Given the description of an element on the screen output the (x, y) to click on. 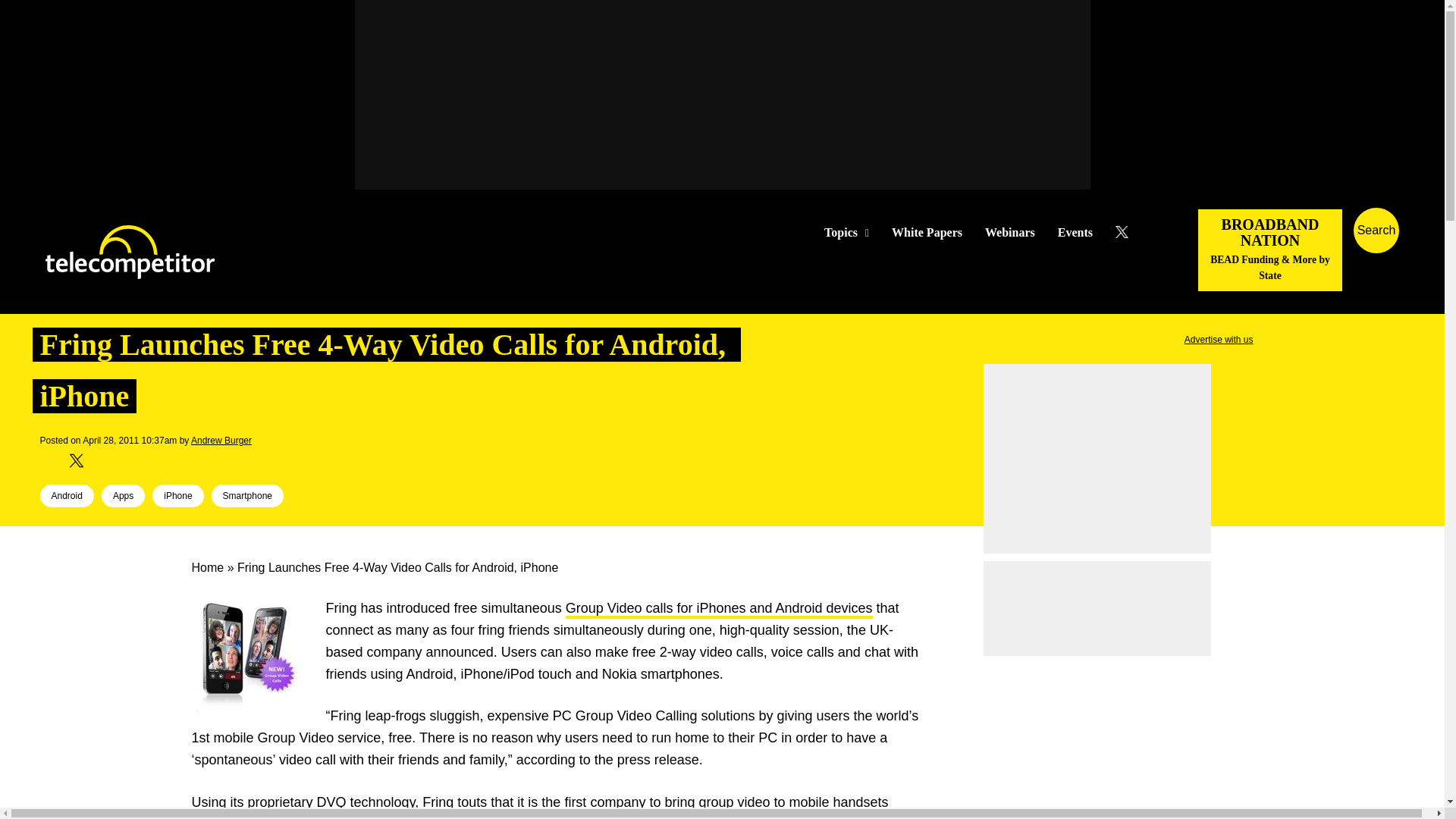
Share on Linked In (99, 460)
Pinterest (124, 460)
Share on Facebook (51, 460)
White Papers (927, 232)
Spread the word on Twitter (75, 460)
Follow Us on Twitter (1127, 232)
Events (1074, 232)
Follow Us on LinkedIN (1151, 232)
Topics (846, 232)
